Given the description of an element on the screen output the (x, y) to click on. 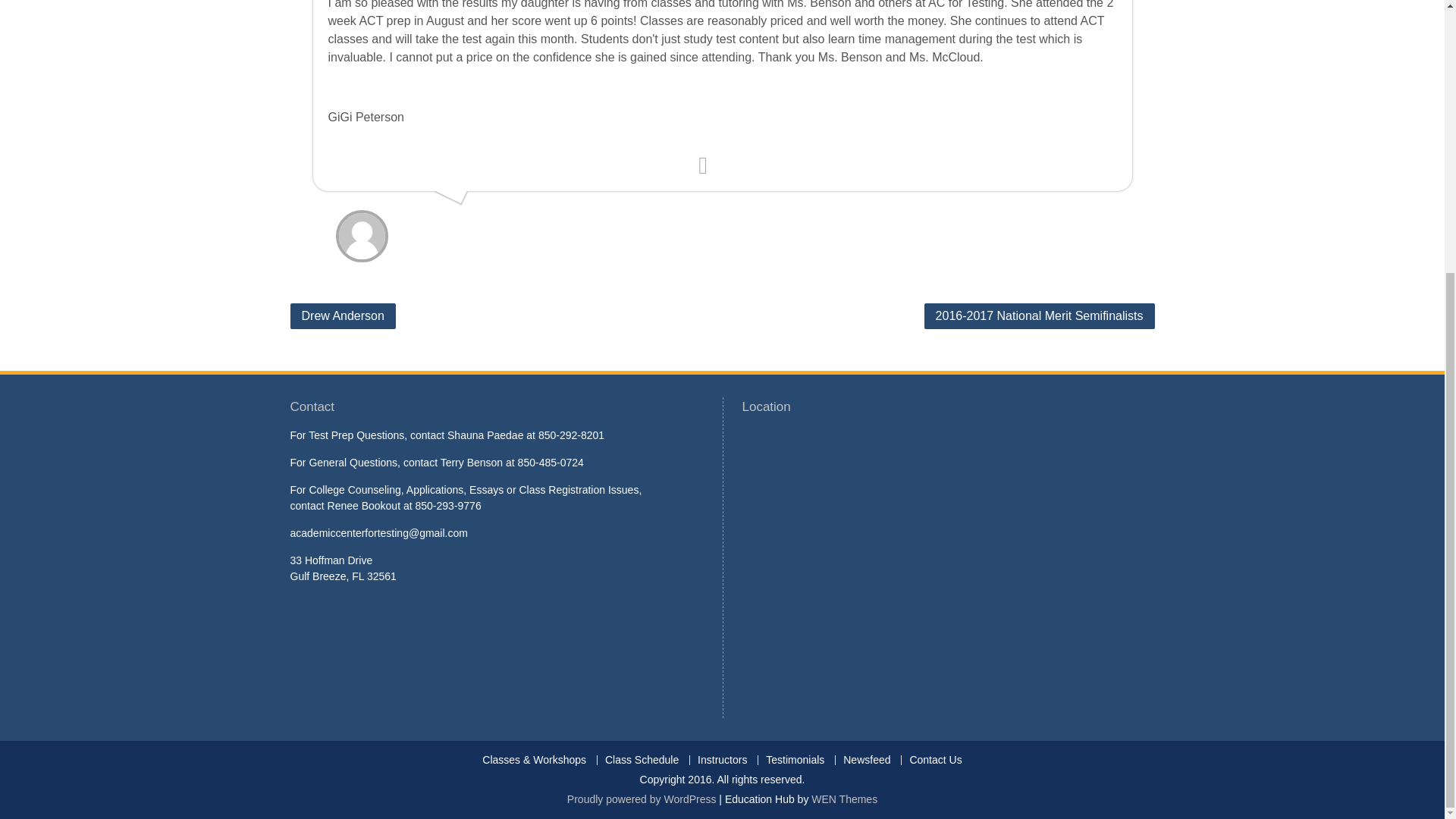
WEN Themes (843, 799)
Instructors (721, 759)
Proudly powered by WordPress (641, 799)
2016-2017 National Merit Semifinalists (1039, 316)
Testimonials (794, 759)
Contact Us (935, 759)
Class Schedule (640, 759)
Newsfeed (866, 759)
Drew Anderson (341, 316)
